Given the description of an element on the screen output the (x, y) to click on. 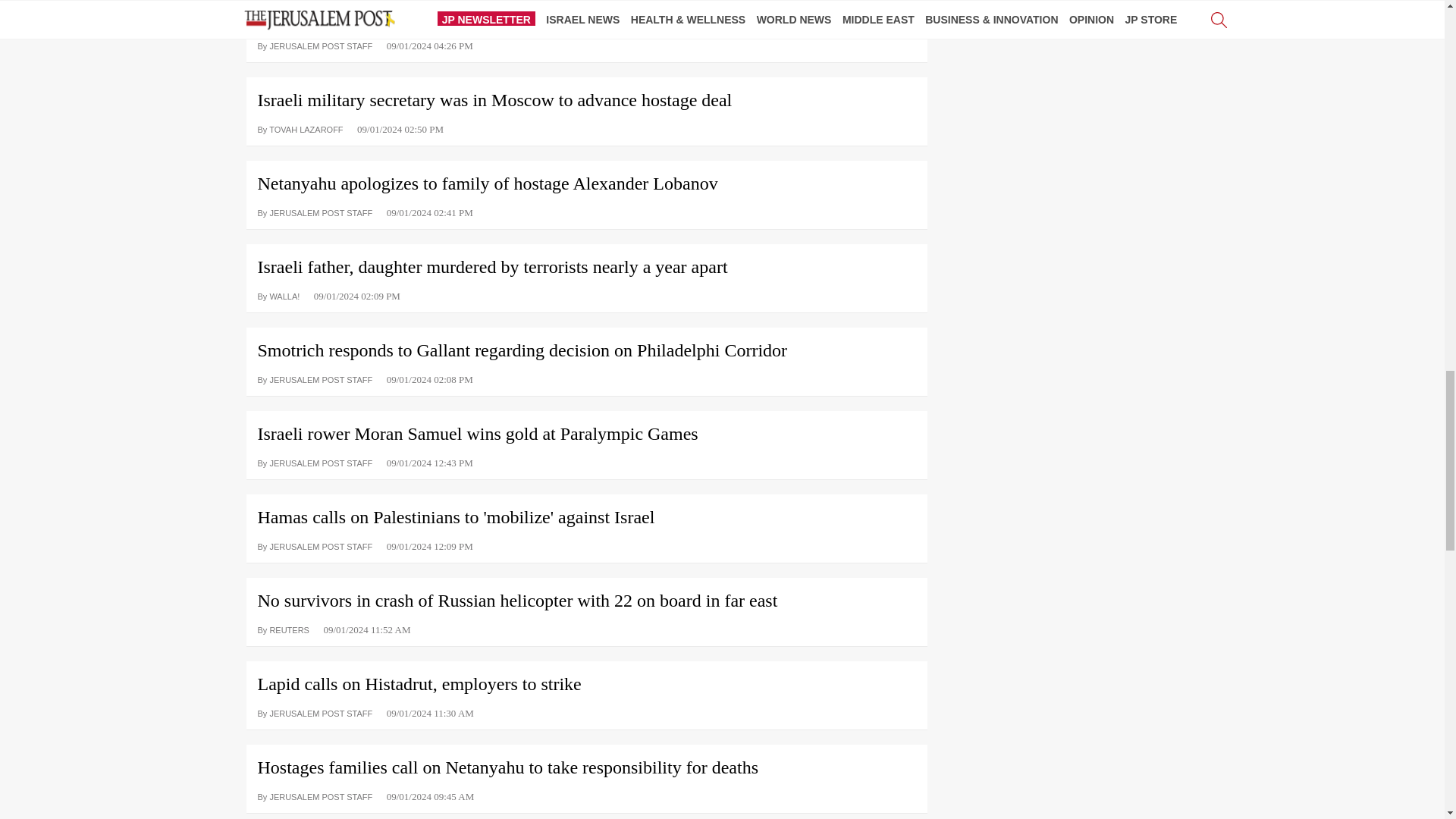
Anti-tank missile wounds several people in Kfar Yuval (586, 13)
By JERUSALEM POST STAFF (314, 44)
Anti-tank missile wounds several people in Kfar Yuval (586, 13)
Netanyahu apologizes to family of hostage Alexander Lobanov (586, 177)
